Given the description of an element on the screen output the (x, y) to click on. 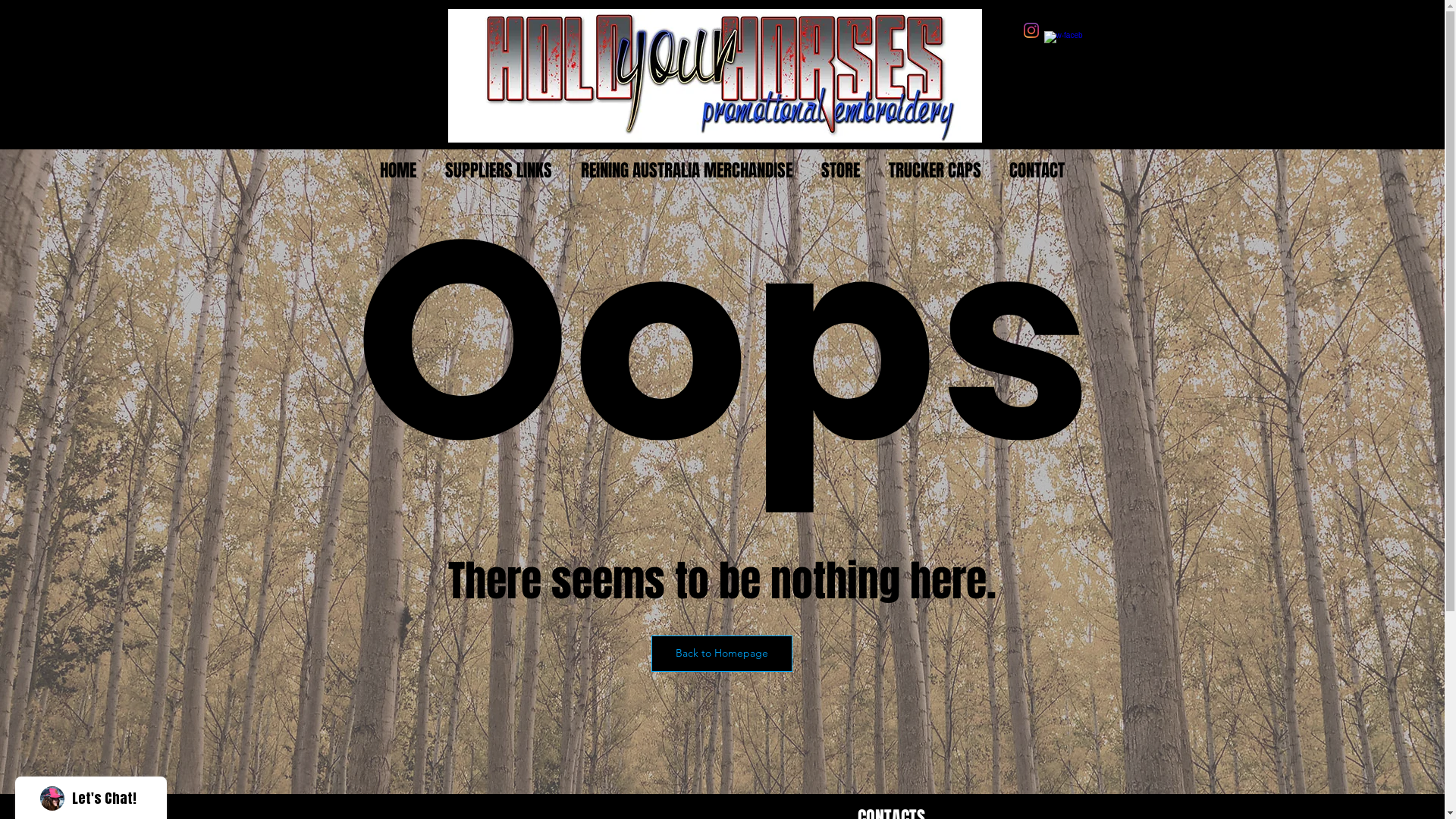
HOME Element type: text (397, 170)
CONTACT Element type: text (1036, 170)
SUPPLIERS LINKS Element type: text (498, 170)
REINING AUSTRALIA MERCHANDISE Element type: text (685, 170)
STORE Element type: text (840, 170)
TRUCKER CAPS Element type: text (933, 170)
